Given the description of an element on the screen output the (x, y) to click on. 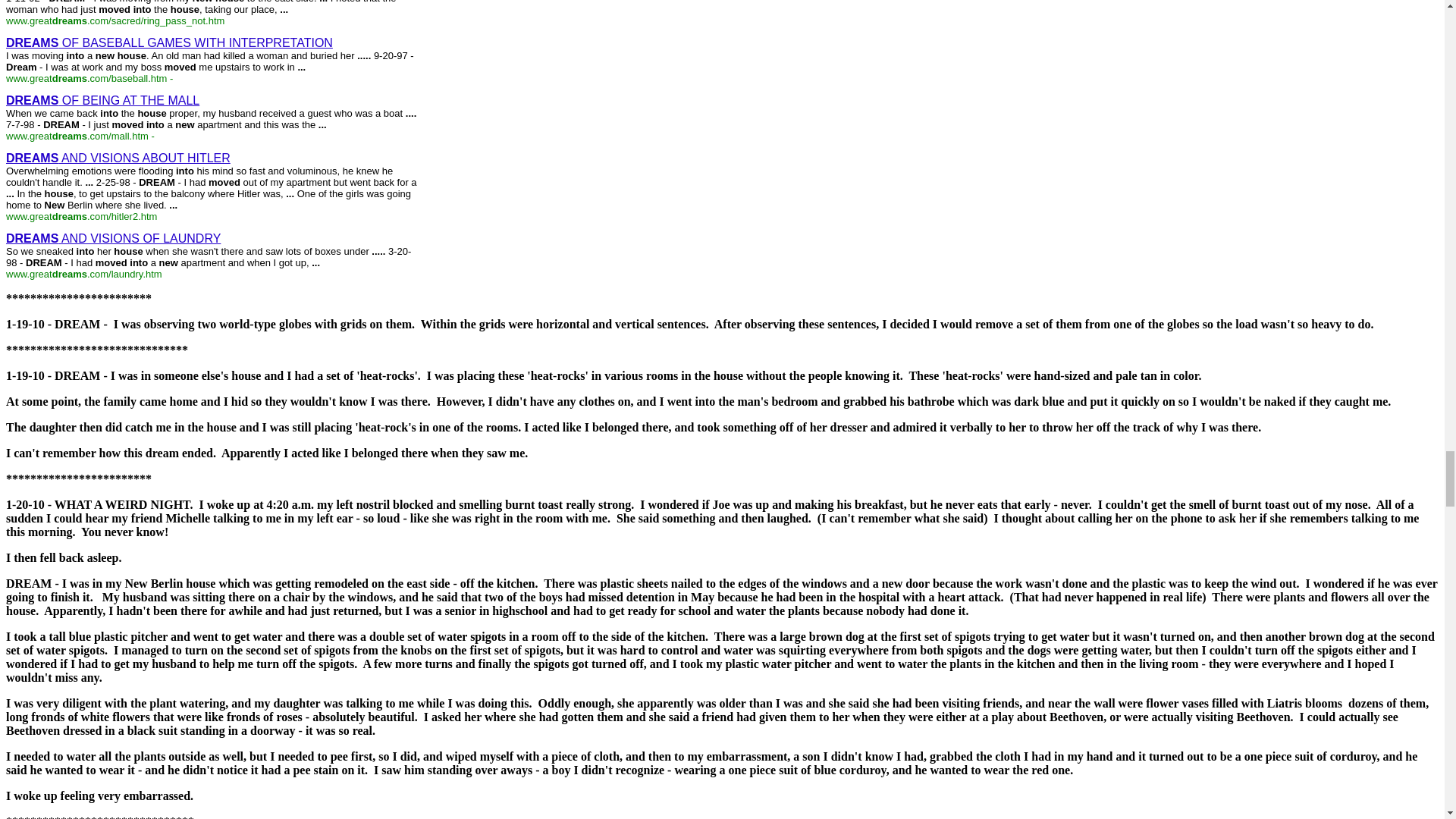
DREAMS OF BEING AT THE MALL (102, 100)
DREAMS OF BASEBALL GAMES WITH INTERPRETATION (169, 42)
DREAMS AND VISIONS ABOUT HITLER (117, 157)
DREAMS AND VISIONS OF LAUNDRY (113, 237)
